Given the description of an element on the screen output the (x, y) to click on. 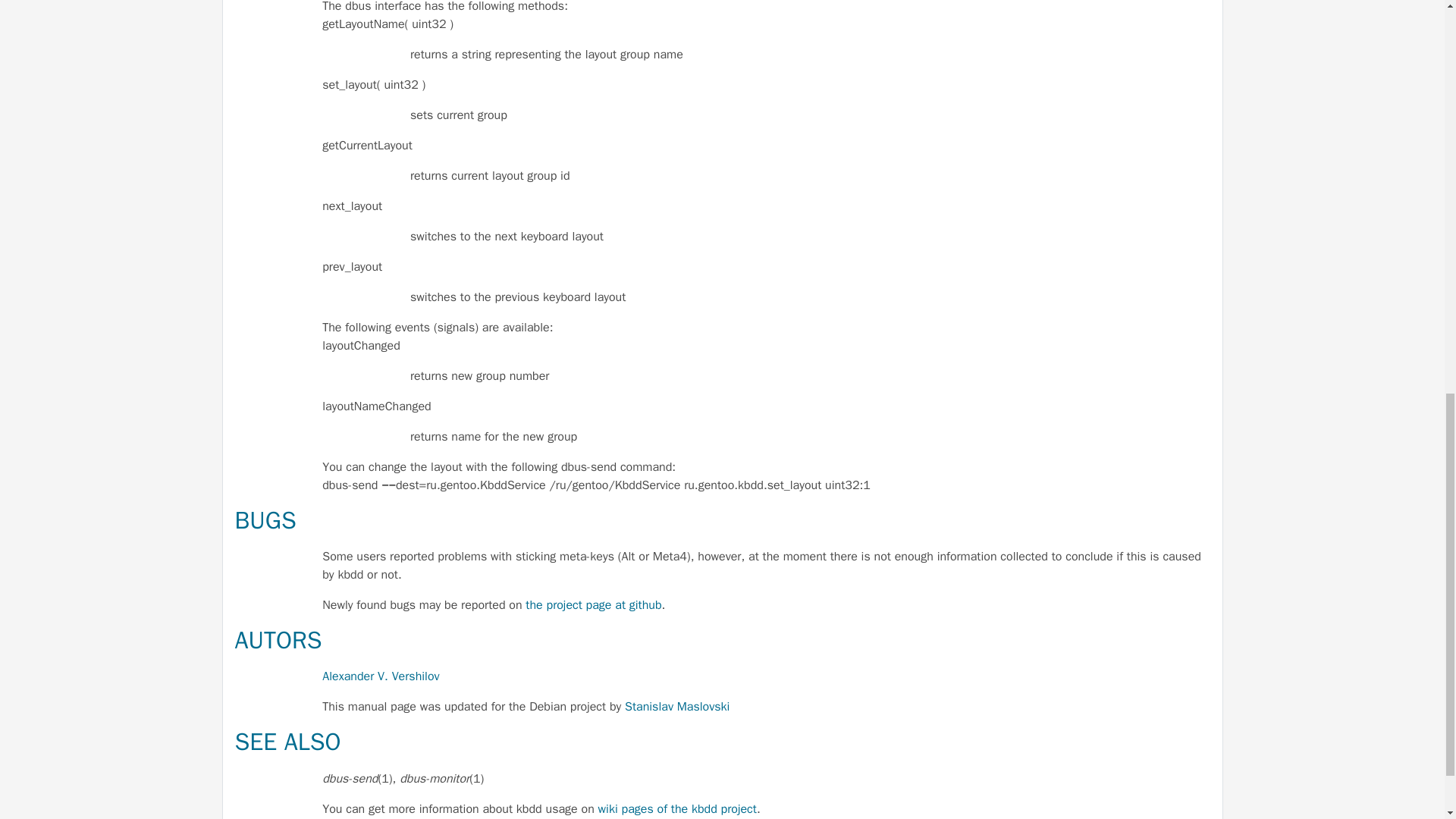
the project page at github (593, 604)
Alexander V. Vershilov (380, 676)
BUGS (265, 520)
Stanislav Maslovski (676, 706)
AUTORS (277, 640)
SEE ALSO (287, 741)
wiki pages of the kbdd project (677, 808)
